Given the description of an element on the screen output the (x, y) to click on. 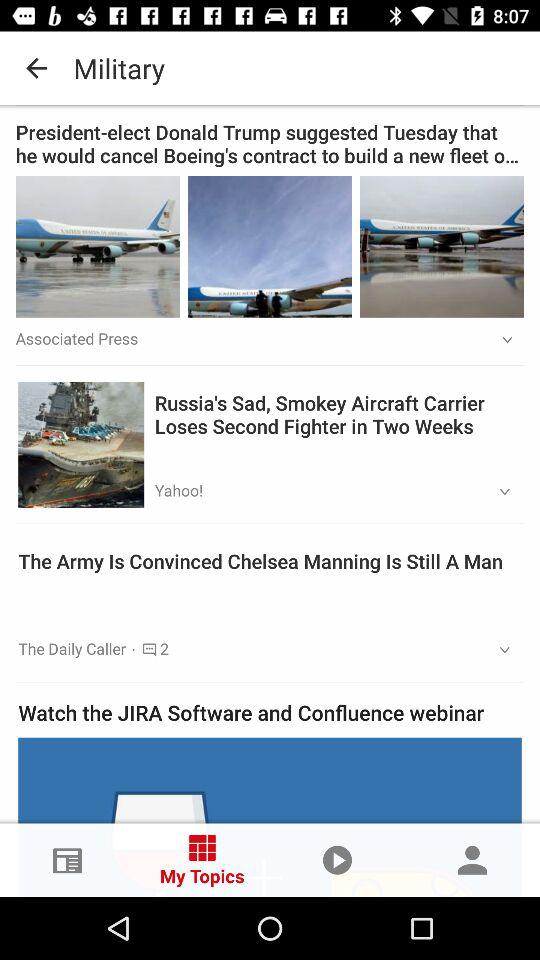
turn on the item next to 2 item (498, 650)
